Given the description of an element on the screen output the (x, y) to click on. 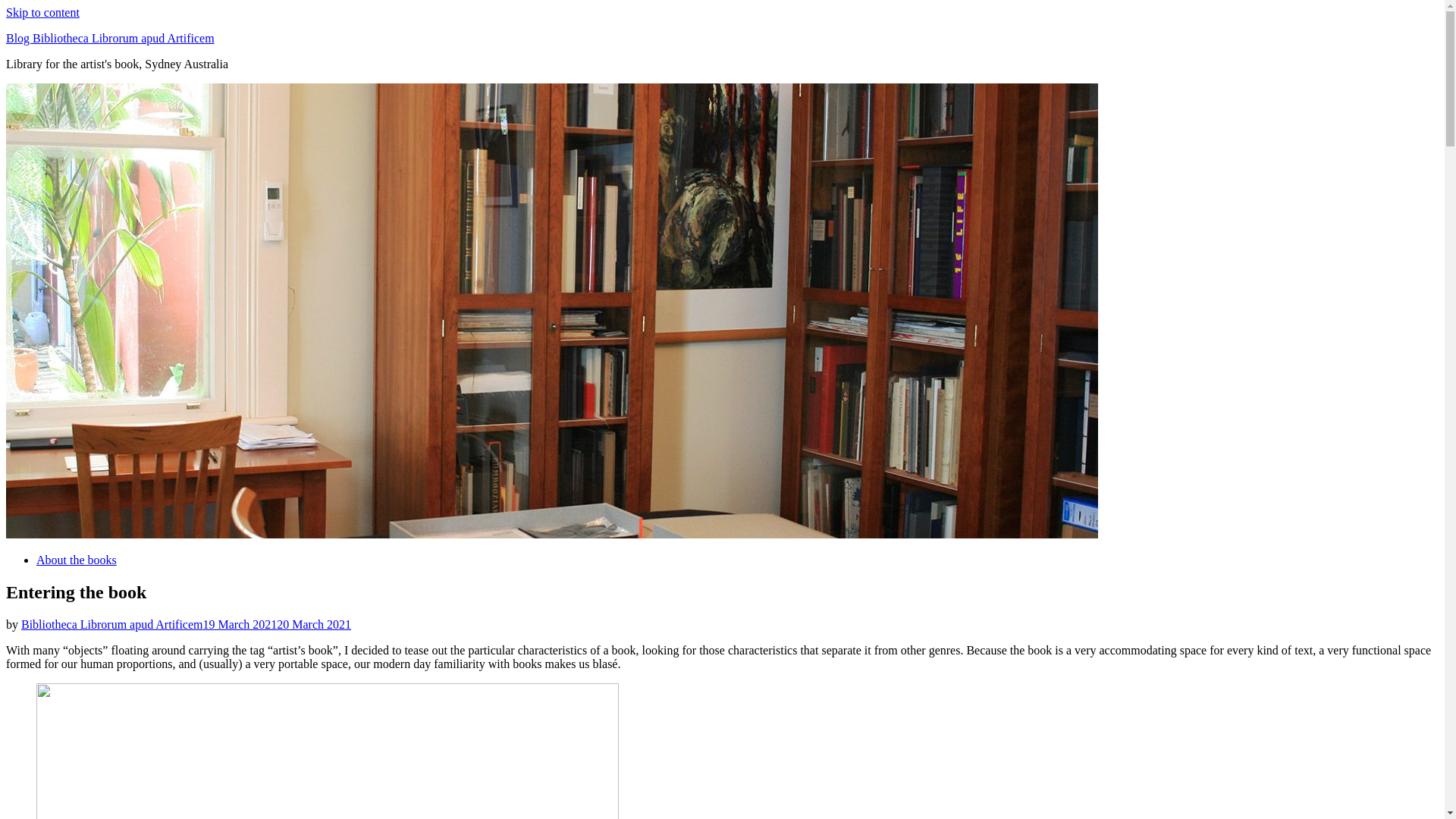
Blog Bibliotheca Librorum apud Artificem Element type: text (110, 37)
About the books Element type: text (76, 559)
Bibliotheca Librorum apud Artificem Element type: text (112, 624)
Skip to content Element type: text (42, 12)
19 March 202120 March 2021 Element type: text (277, 624)
